Given the description of an element on the screen output the (x, y) to click on. 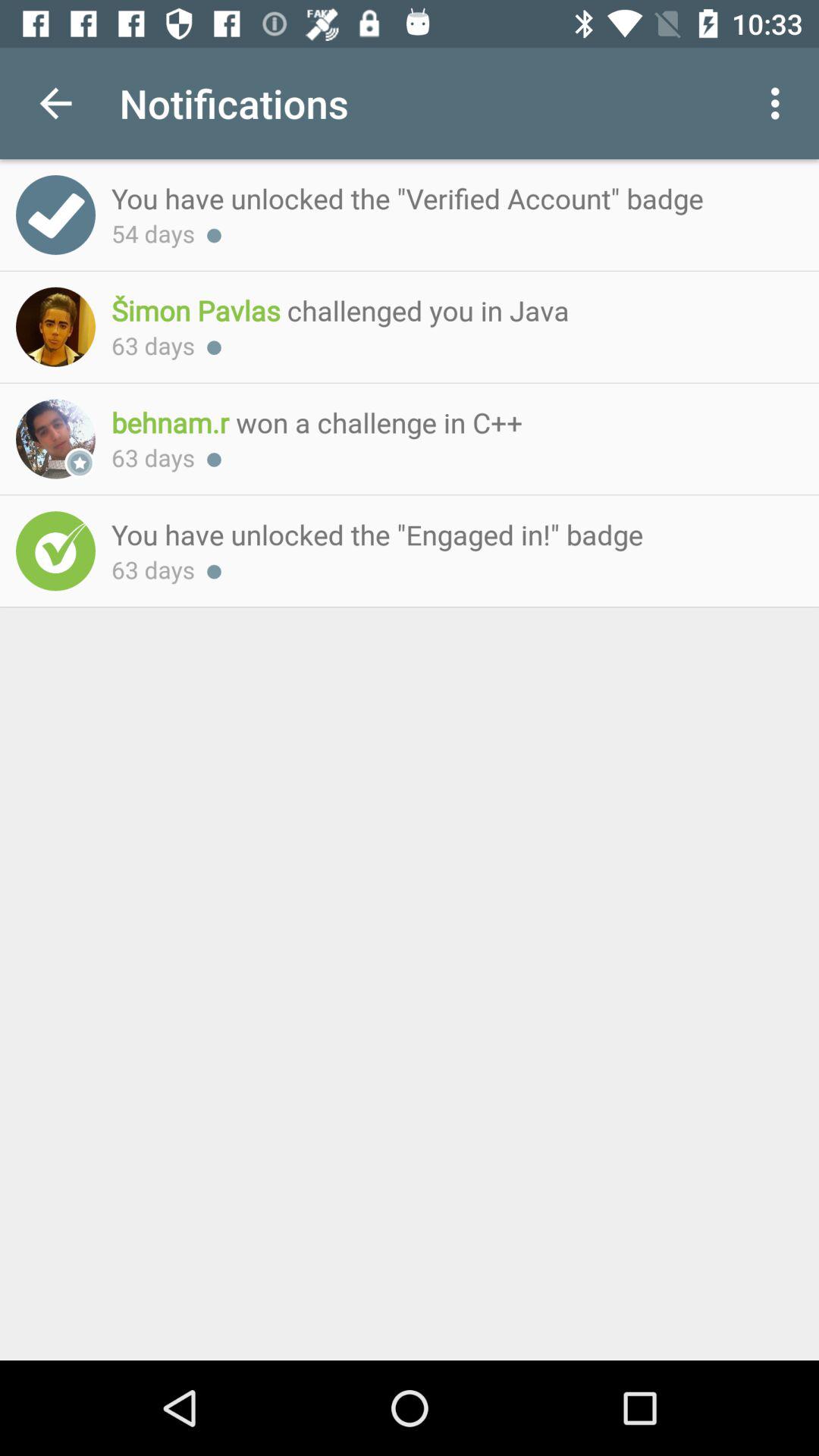
select the text which is beside the third image (449, 422)
click on the menu option below the notification bar (779, 103)
select the last text above 63 days (449, 534)
select the first text below the notifications (449, 197)
